Given the description of an element on the screen output the (x, y) to click on. 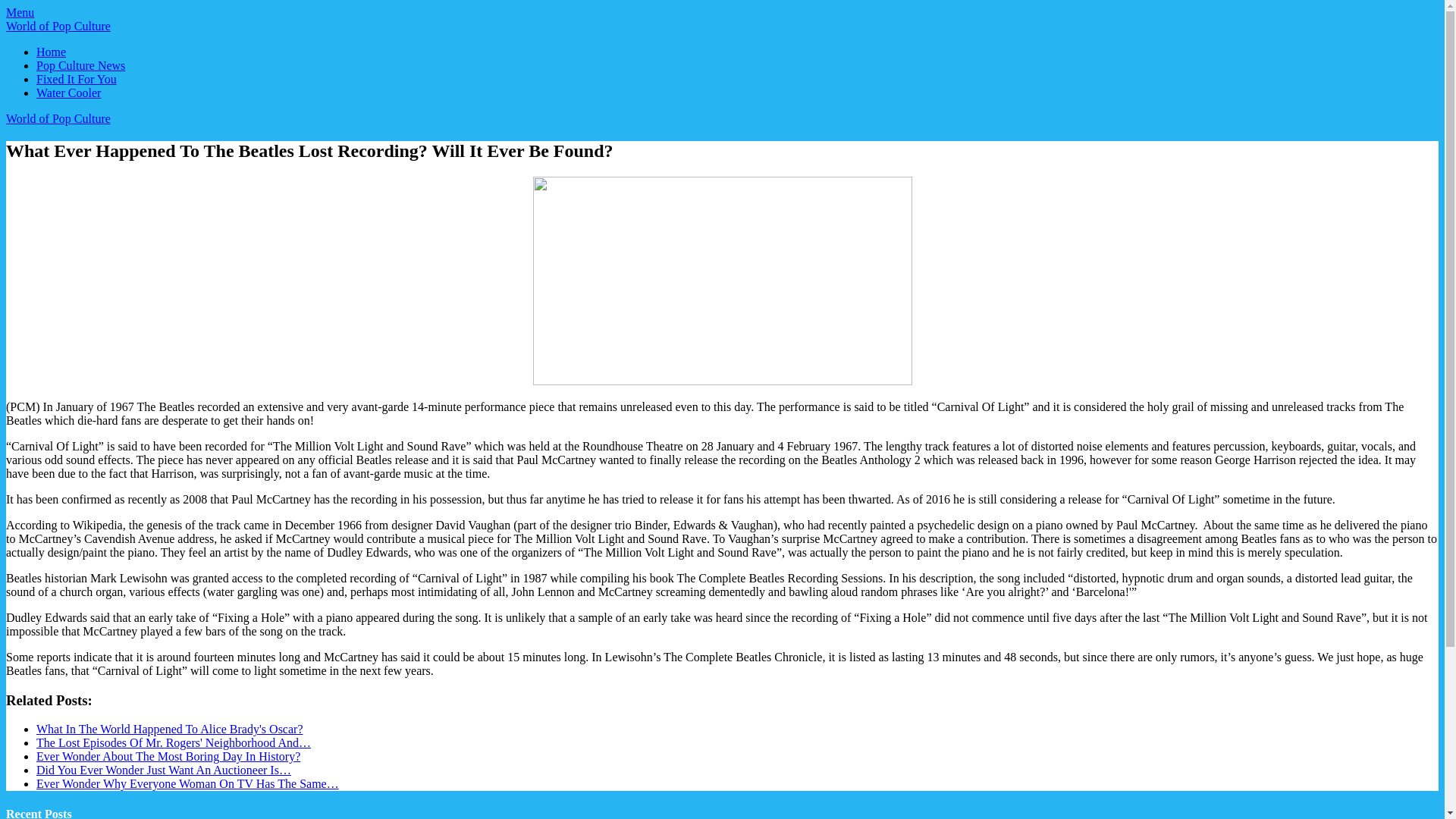
Water Cooler (68, 92)
Home (50, 51)
World of Pop Culture (57, 25)
Menu (19, 11)
World of Pop Culture (57, 118)
Fixed It For You (76, 78)
Pop Culture News (80, 65)
Ever Wonder About The Most Boring Day In History? (167, 756)
What In The World Happened To Alice Brady's Oscar? (169, 728)
